Given the description of an element on the screen output the (x, y) to click on. 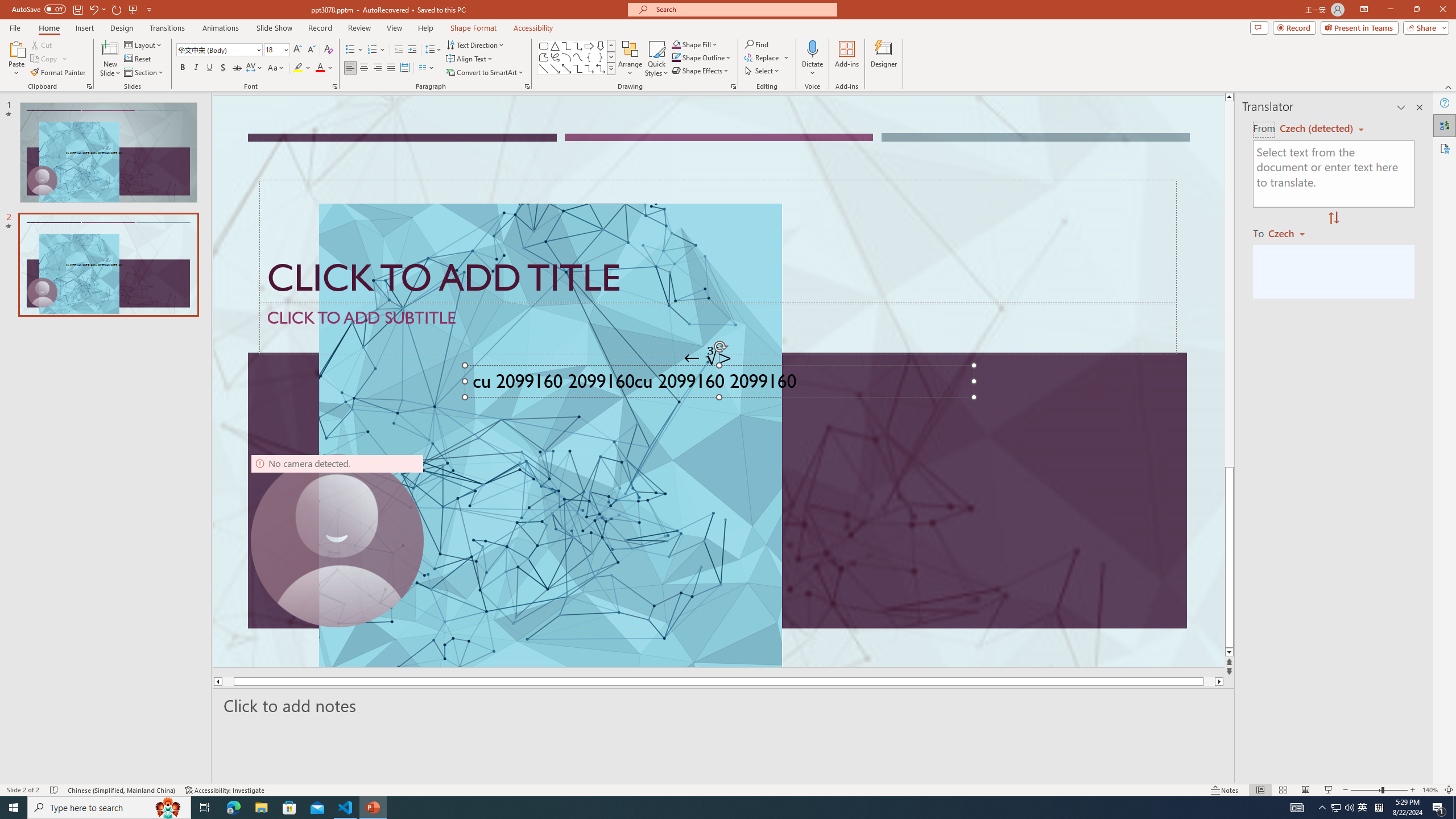
Swap "from" and "to" languages. (1333, 218)
